Given the description of an element on the screen output the (x, y) to click on. 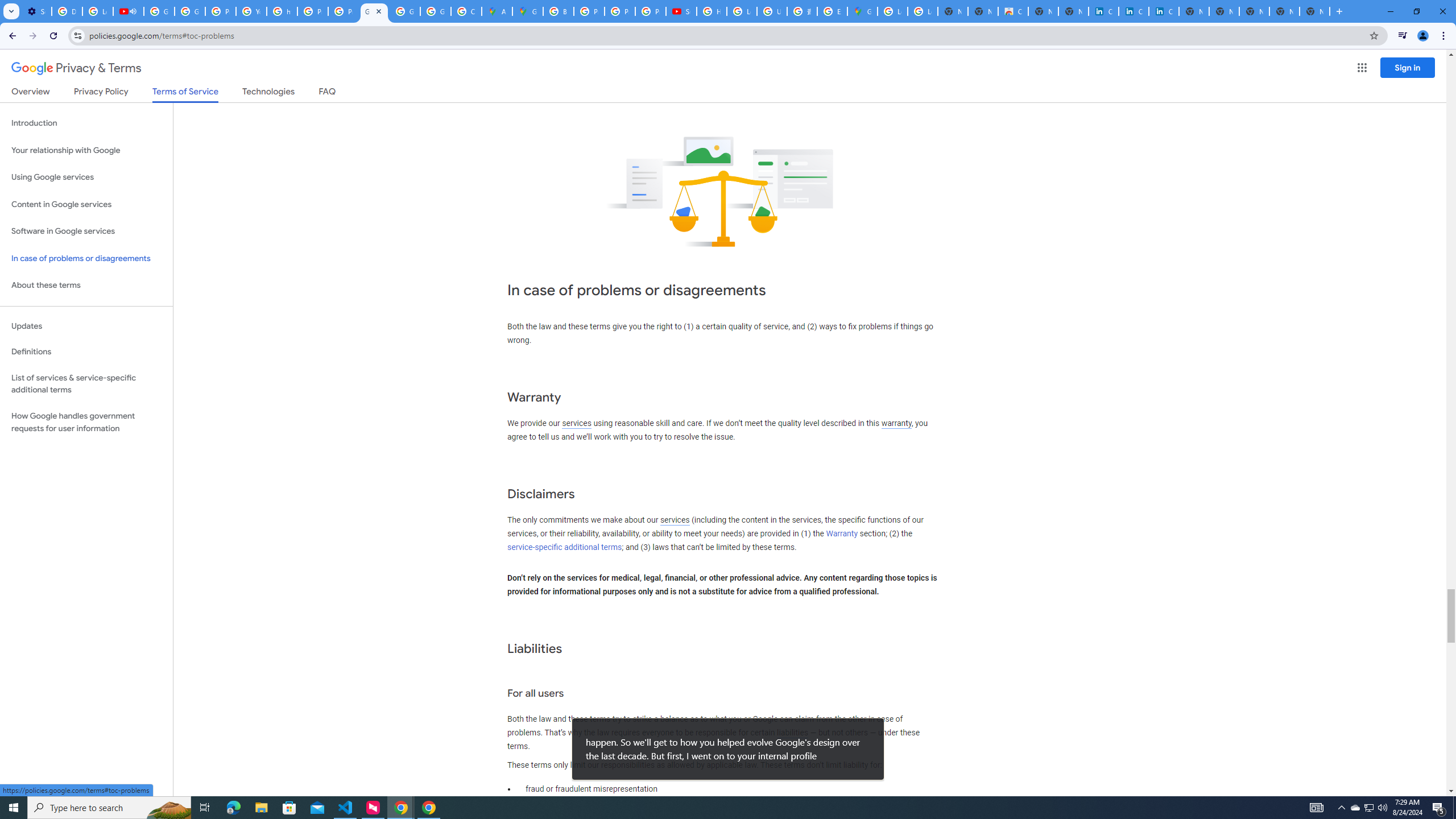
YouTube (251, 11)
Chrome Web Store (1012, 11)
warranty (895, 423)
Google Maps (862, 11)
Content in Google services (86, 204)
Warranty (841, 533)
https://scholar.google.com/ (282, 11)
